Given the description of an element on the screen output the (x, y) to click on. 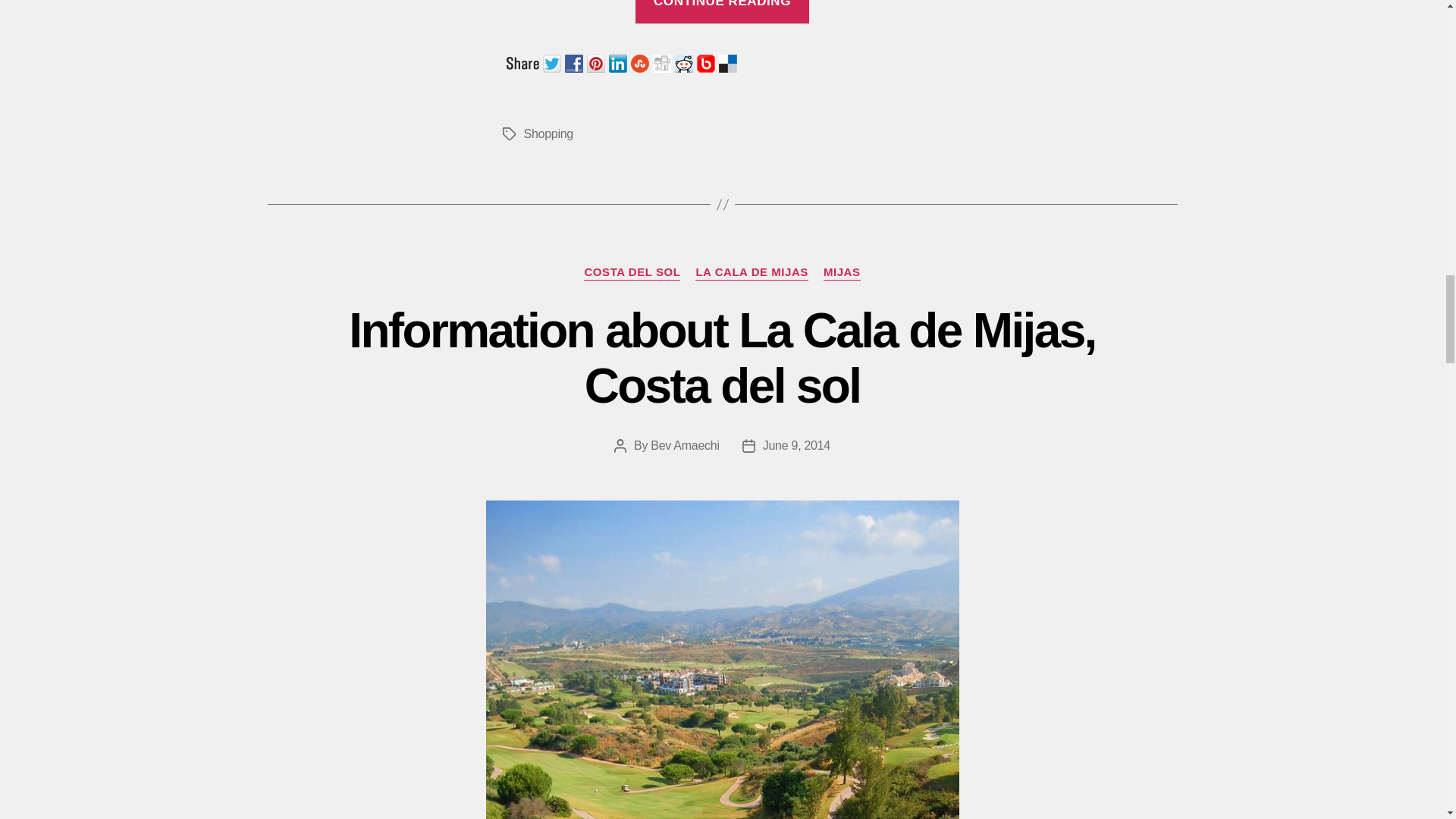
StumbleUpon (641, 61)
Facebook (575, 61)
Digg (663, 61)
Linkedin (619, 61)
Pinterest (597, 61)
Twitter (553, 61)
